Given the description of an element on the screen output the (x, y) to click on. 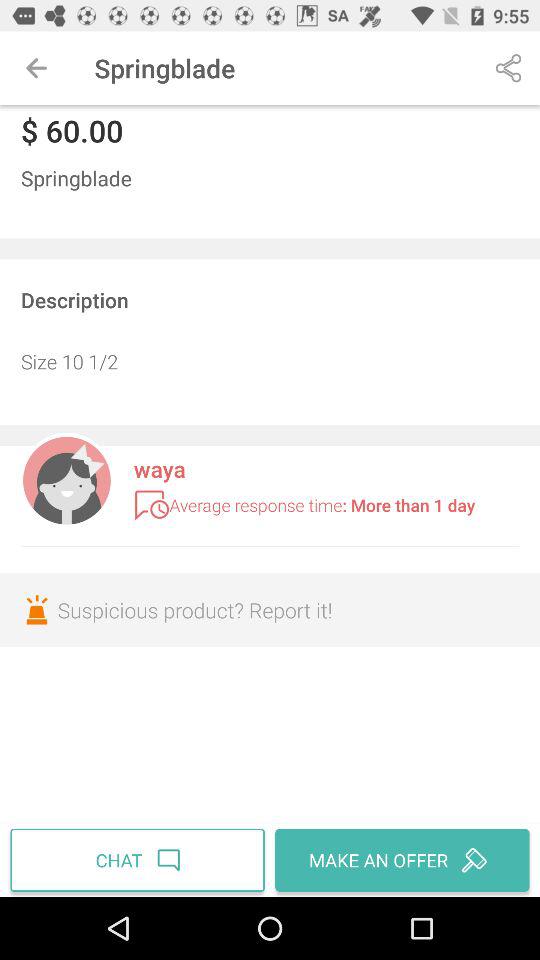
open make an offer item (399, 860)
